Given the description of an element on the screen output the (x, y) to click on. 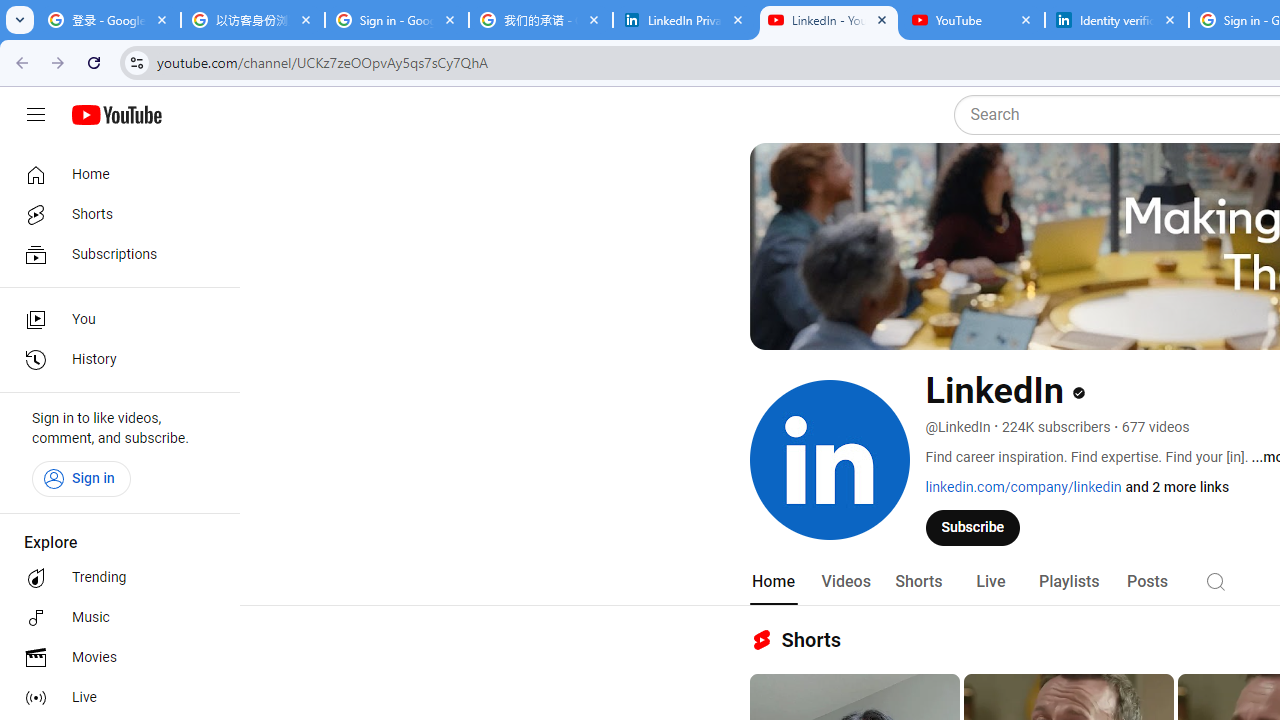
Back (19, 62)
Shorts (918, 581)
Sign in (81, 478)
Home (113, 174)
Posts (1147, 581)
Subscriptions (113, 254)
Live (990, 581)
Reload (93, 62)
Forward (57, 62)
Music (113, 617)
Search tabs (20, 20)
Sign in - Google Accounts (396, 20)
